Given the description of an element on the screen output the (x, y) to click on. 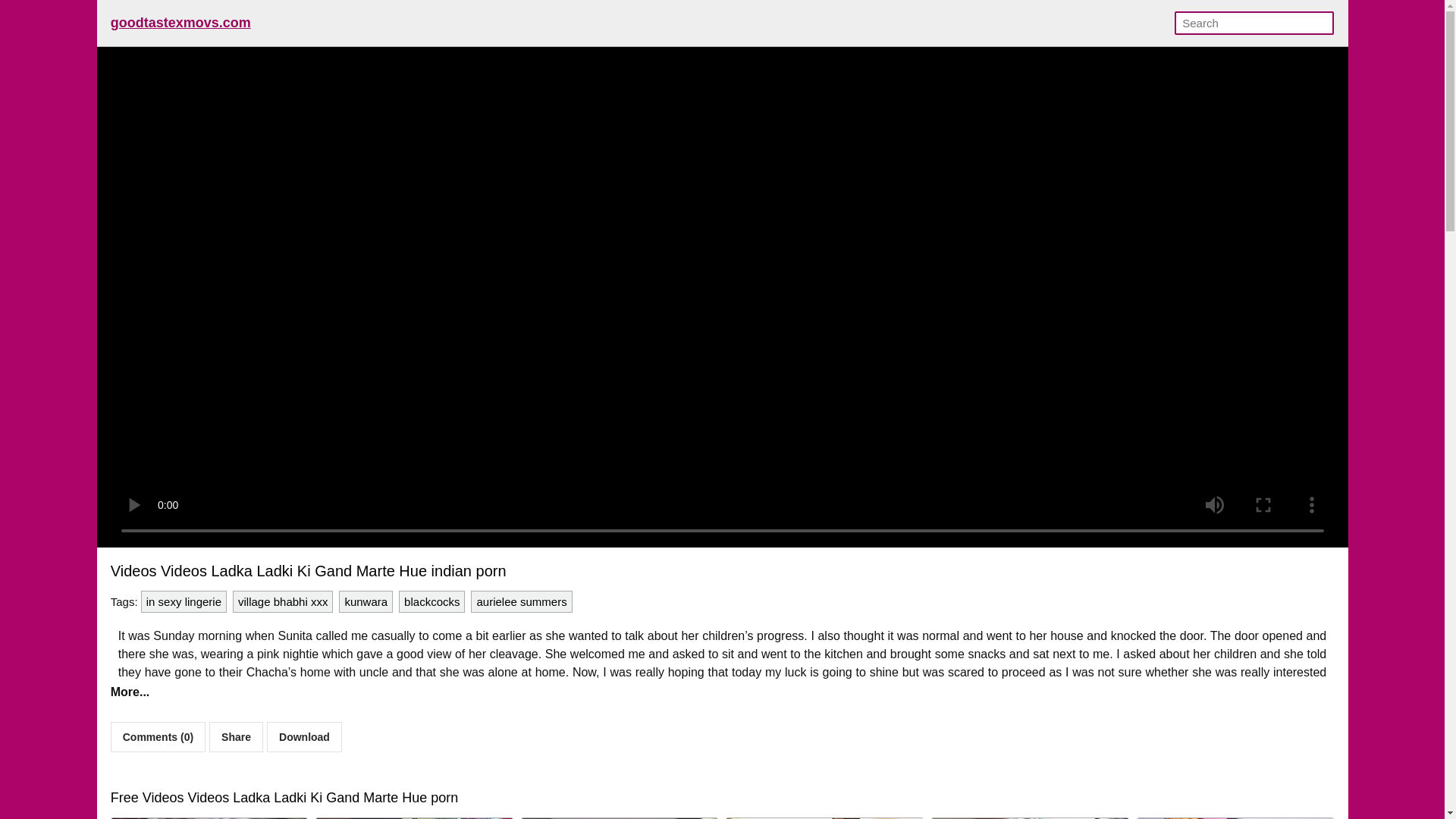
in sexy lingerie (184, 601)
Share (236, 736)
village bhabhi xxx (282, 601)
aurielee summers (521, 601)
goodtastexmovs.com (181, 22)
blackcocks (431, 601)
